Given the description of an element on the screen output the (x, y) to click on. 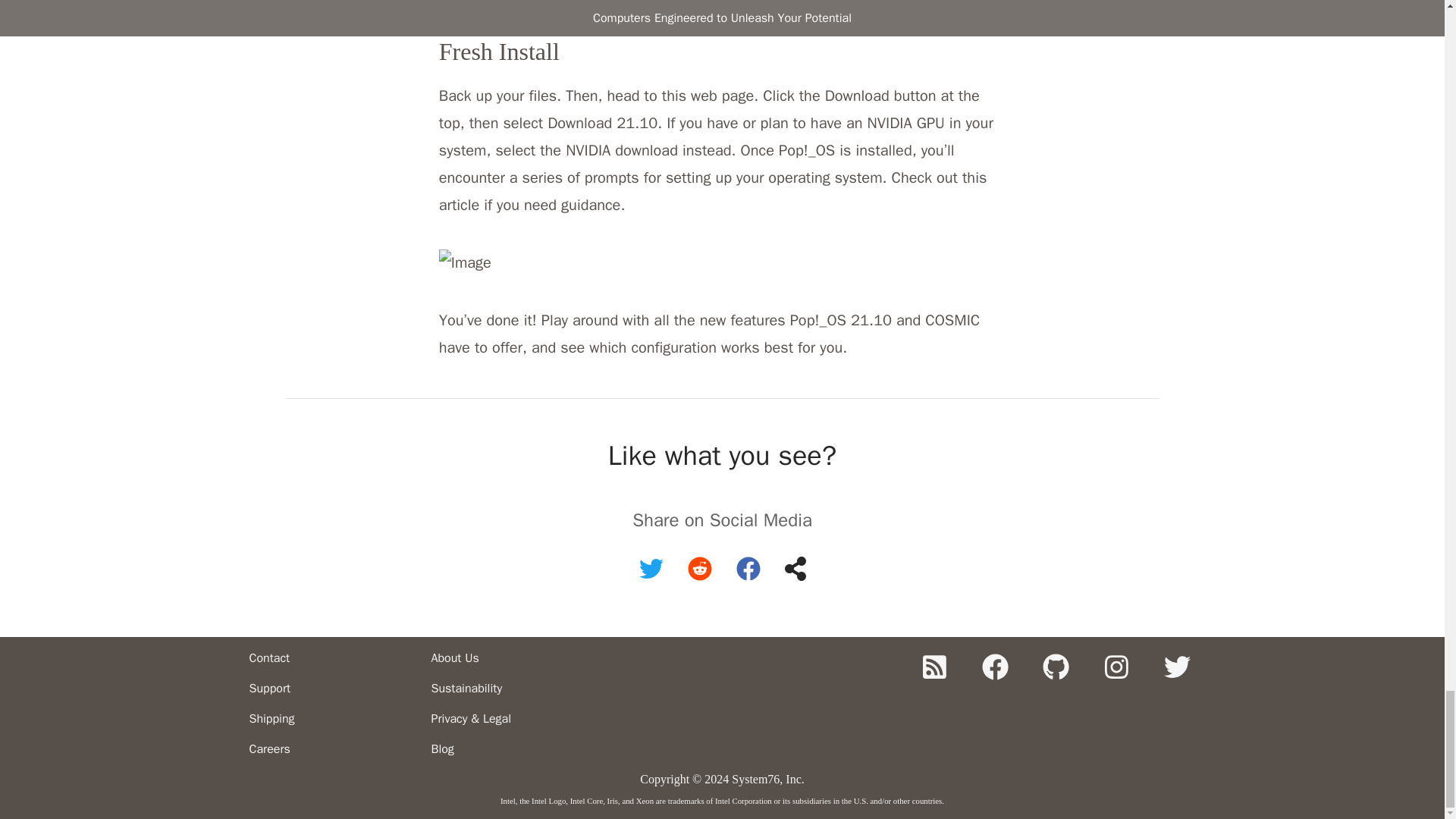
Instagram (1116, 666)
Facebook (995, 666)
Careers (334, 748)
Blog (516, 748)
Contact (334, 657)
Sustainability (516, 688)
GitHub (1055, 666)
About Us (516, 657)
Twitter (1177, 666)
Support (334, 688)
